Given the description of an element on the screen output the (x, y) to click on. 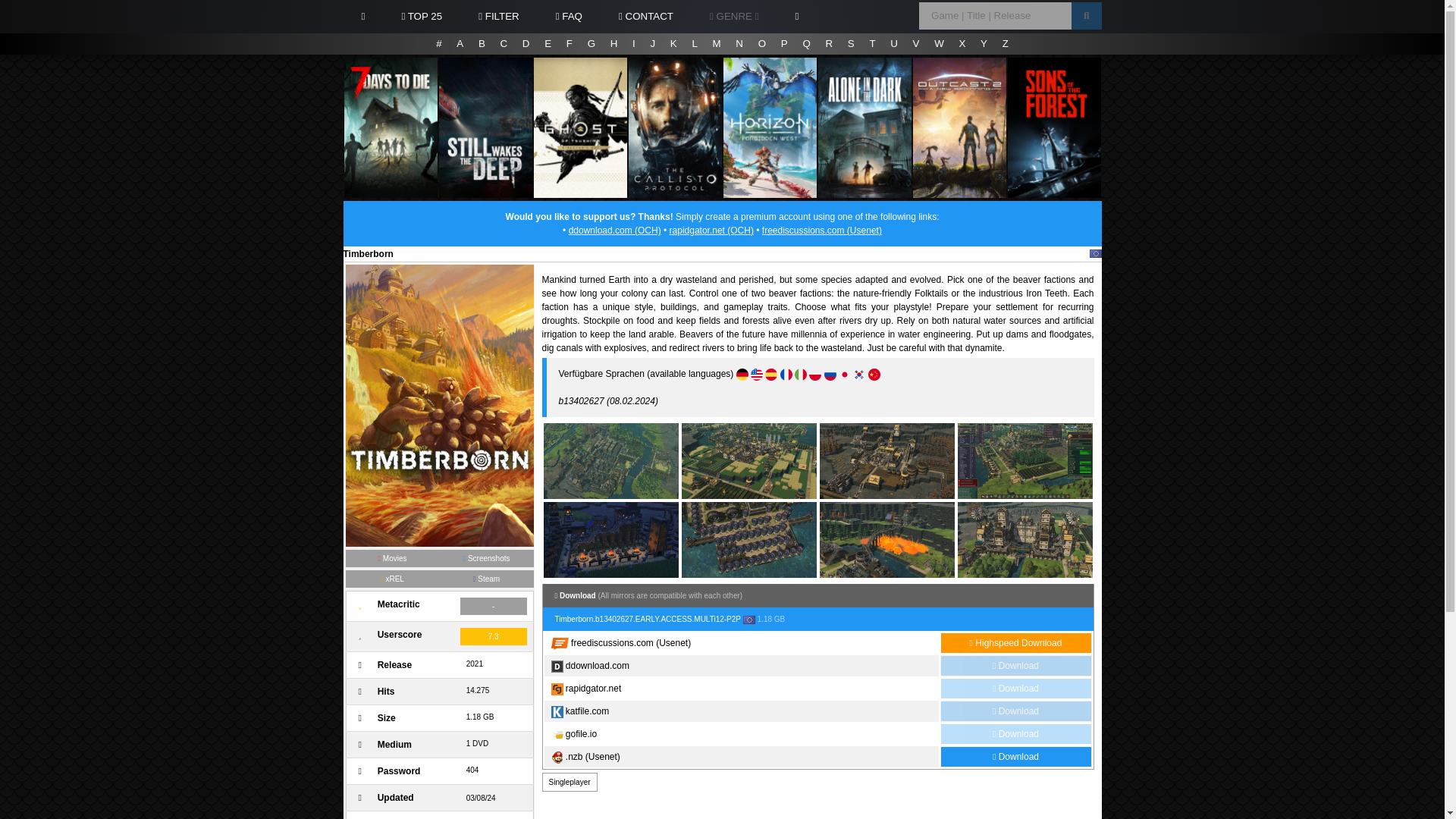
A (458, 43)
FAQ (568, 16)
FILTER (498, 16)
Alle Spiele mit G (590, 43)
Alle Spiele mit N (739, 43)
GENRE (734, 16)
C (503, 43)
Alle Spiele mit H (614, 43)
Alle Spiele mit K (672, 43)
Expand (734, 16)
Alle Spiele mit O (761, 43)
Alle Spiele mit E (547, 43)
Alle Spiele mit D (525, 43)
Alle Spiele mit A (458, 43)
E (547, 43)
